Given the description of an element on the screen output the (x, y) to click on. 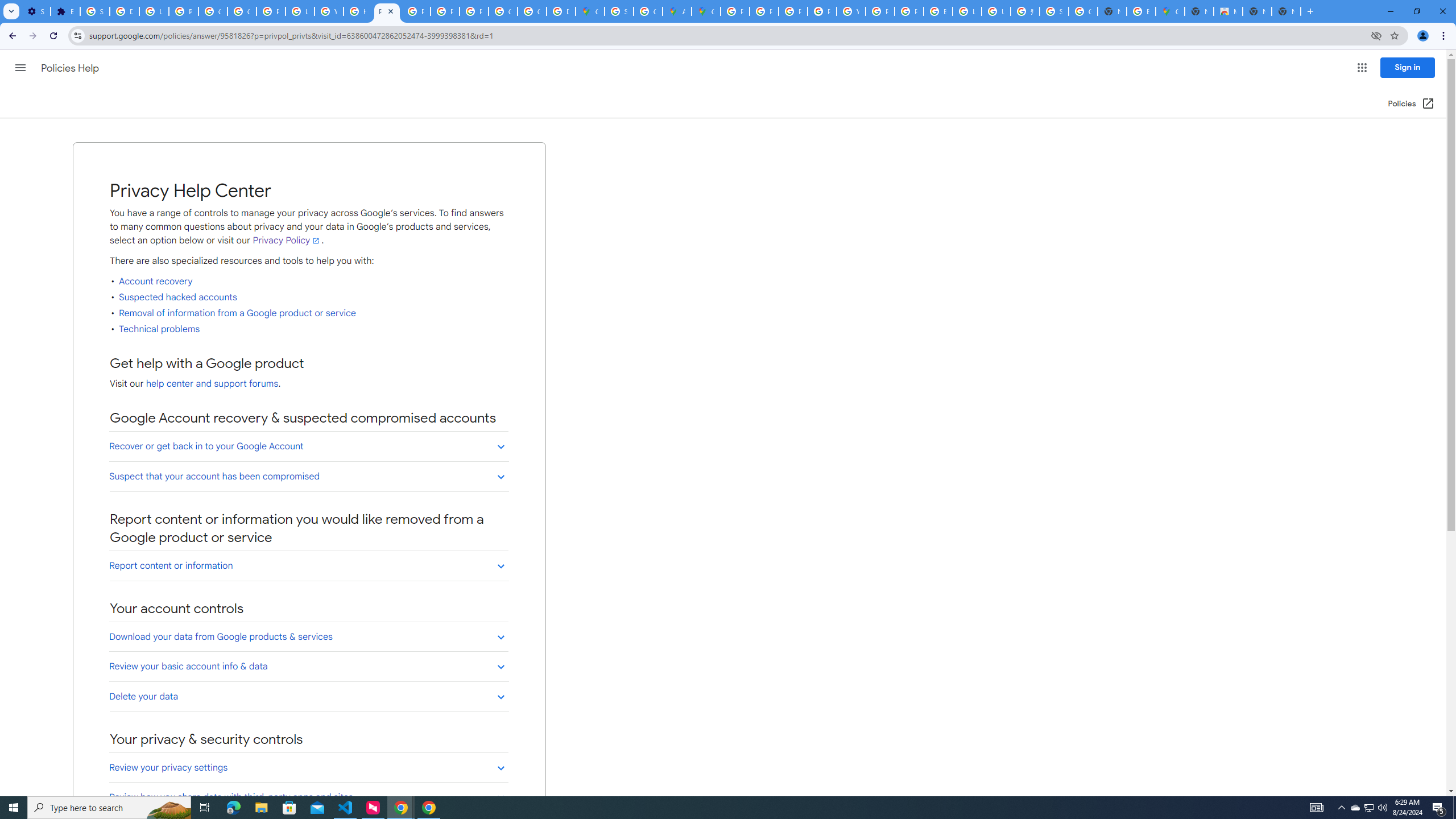
YouTube (850, 11)
Suspected hacked accounts (178, 297)
Privacy Help Center - Policies Help (792, 11)
Suspect that your account has been compromised (308, 476)
